Given the description of an element on the screen output the (x, y) to click on. 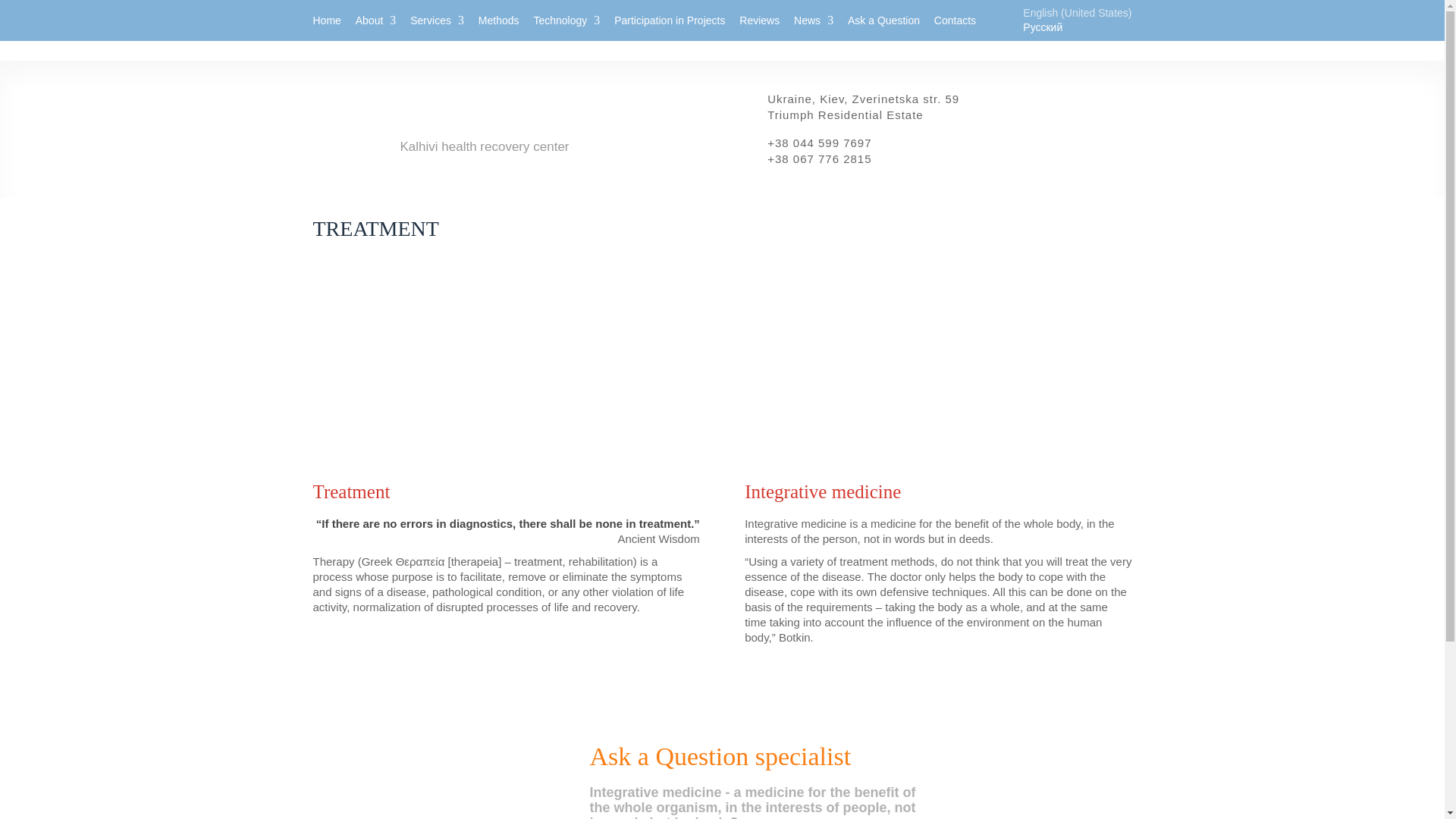
Contacts (954, 20)
Methods (499, 20)
Ask a Question specialist (720, 756)
Services (437, 20)
Ask a Question (883, 20)
Integrative medicine (937, 491)
Participation in Projects (669, 20)
Technology (565, 20)
Reviews (758, 20)
Russian (1042, 27)
